Given the description of an element on the screen output the (x, y) to click on. 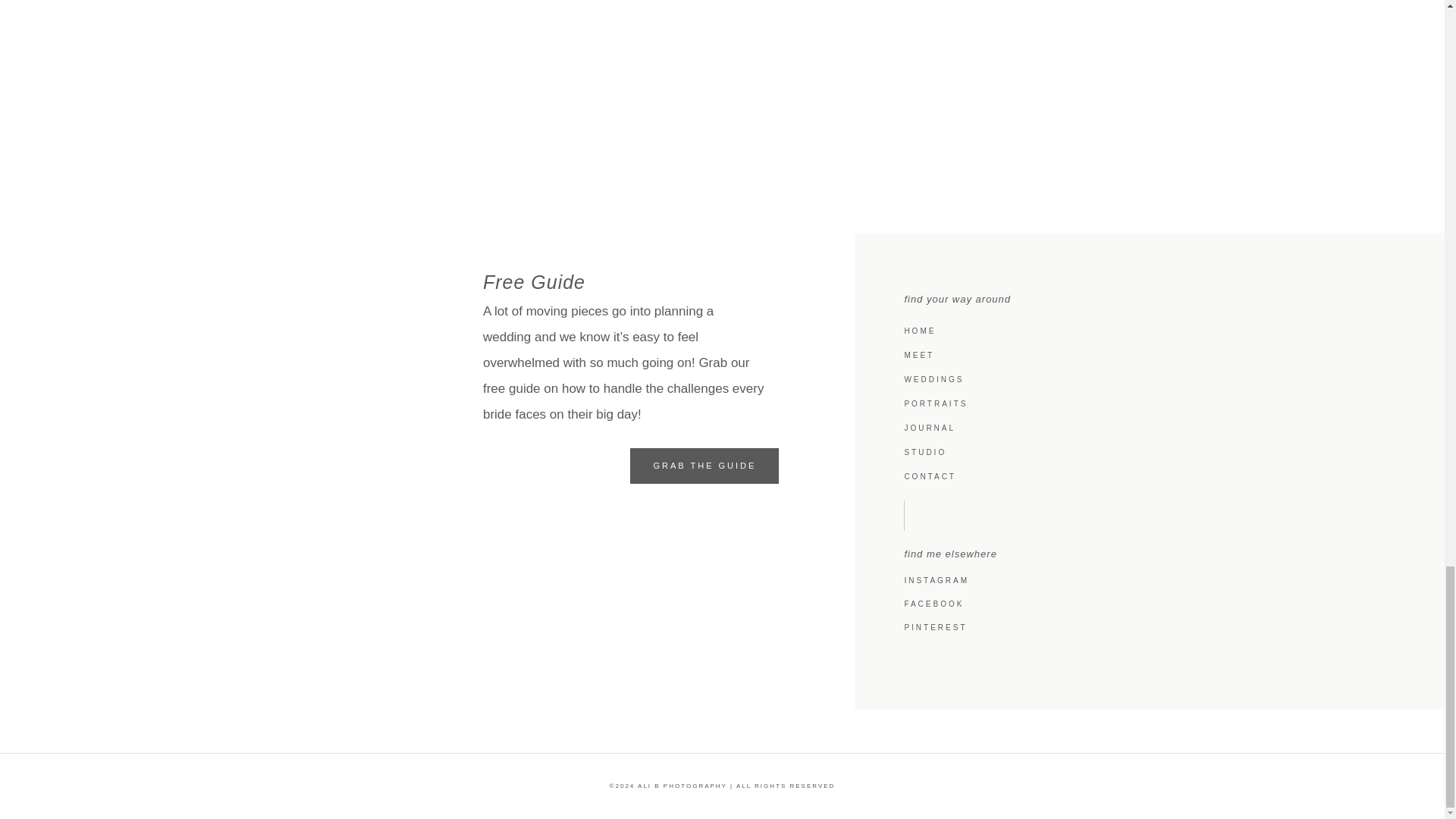
GRAB THE GUIDE (704, 465)
CONTACT (1157, 476)
JOURNAL (1157, 428)
PORTRAITS (1157, 404)
STUDIO (1157, 452)
WEDDINGS (1157, 379)
HOME (1157, 331)
MEET (1157, 355)
